Given the description of an element on the screen output the (x, y) to click on. 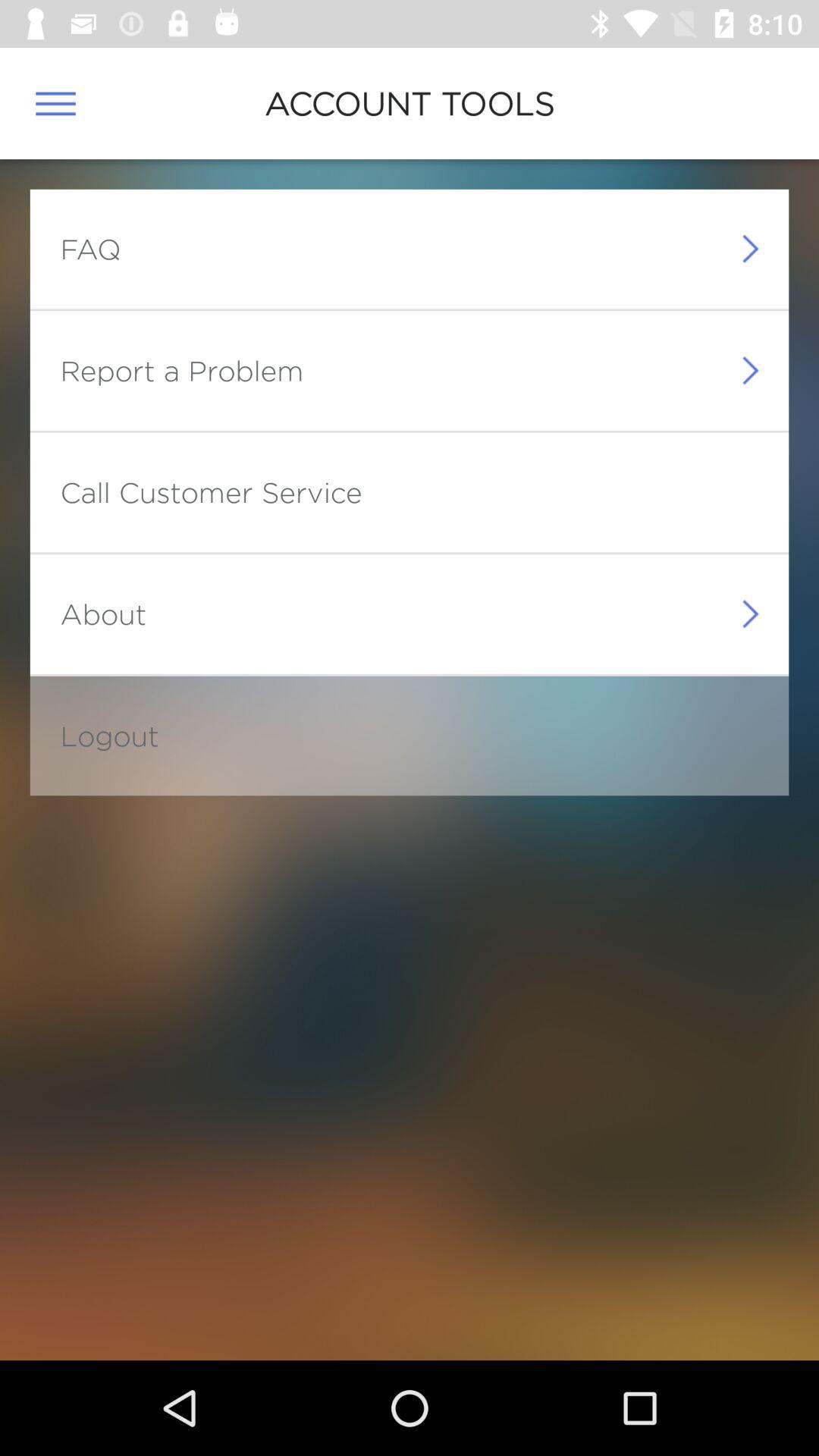
jump to faq item (90, 248)
